Given the description of an element on the screen output the (x, y) to click on. 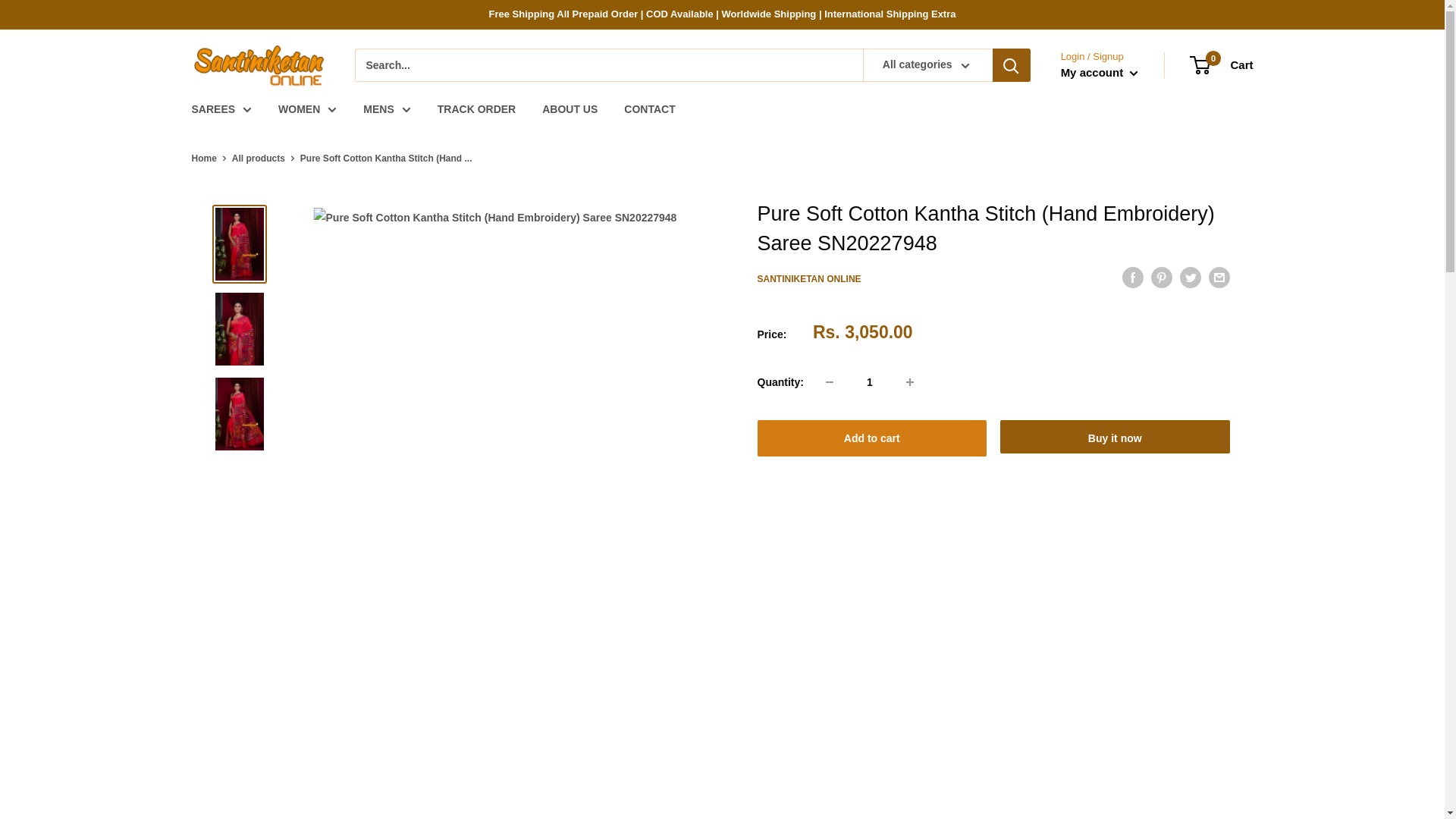
Decrease quantity by 1 (829, 382)
1 (869, 382)
Increase quantity by 1 (909, 382)
